Given the description of an element on the screen output the (x, y) to click on. 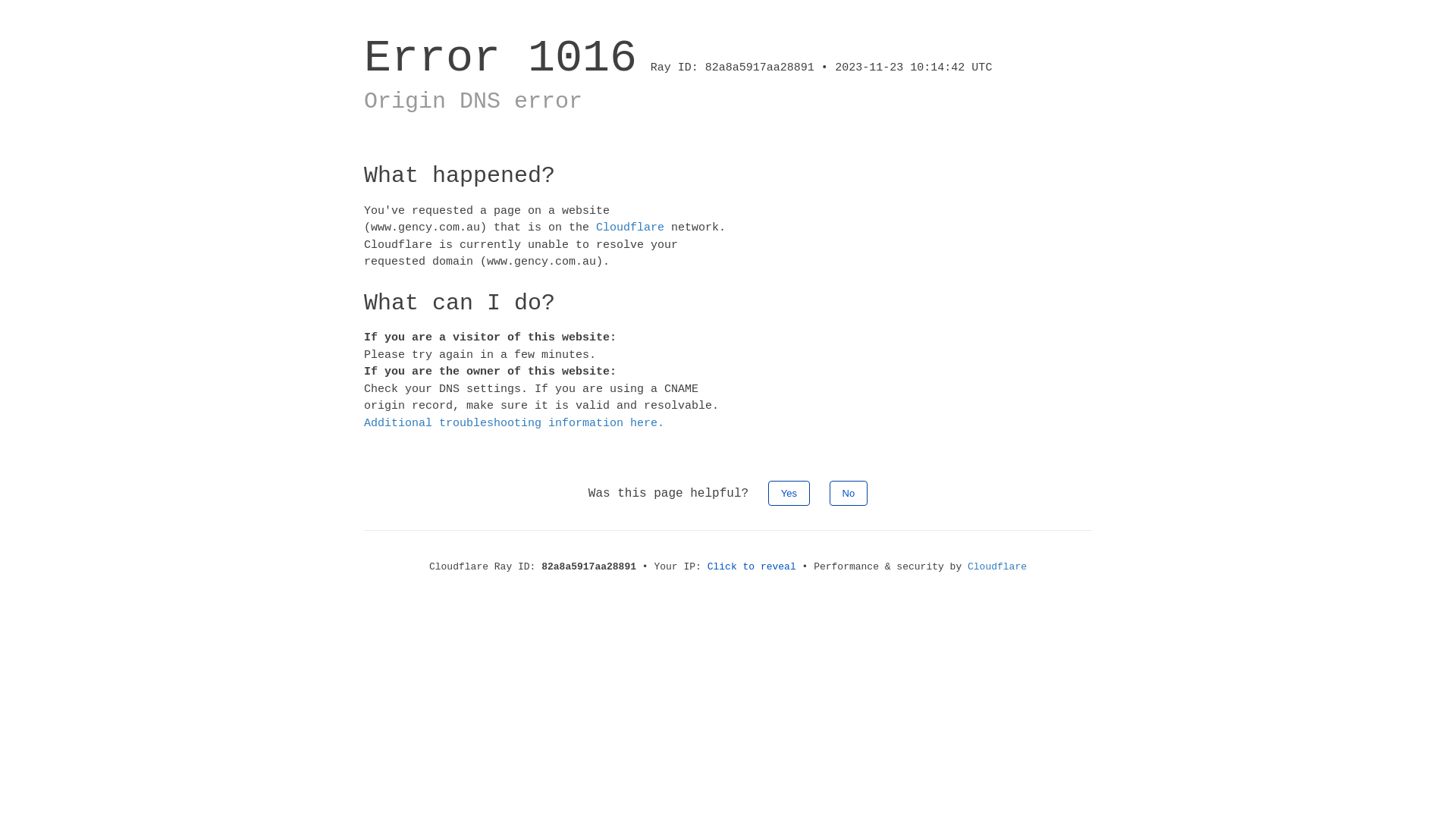
Cloudflare Element type: text (630, 227)
Additional troubleshooting information here. Element type: text (514, 423)
Yes Element type: text (788, 492)
Click to reveal Element type: text (751, 566)
No Element type: text (848, 492)
Cloudflare Element type: text (996, 566)
